Given the description of an element on the screen output the (x, y) to click on. 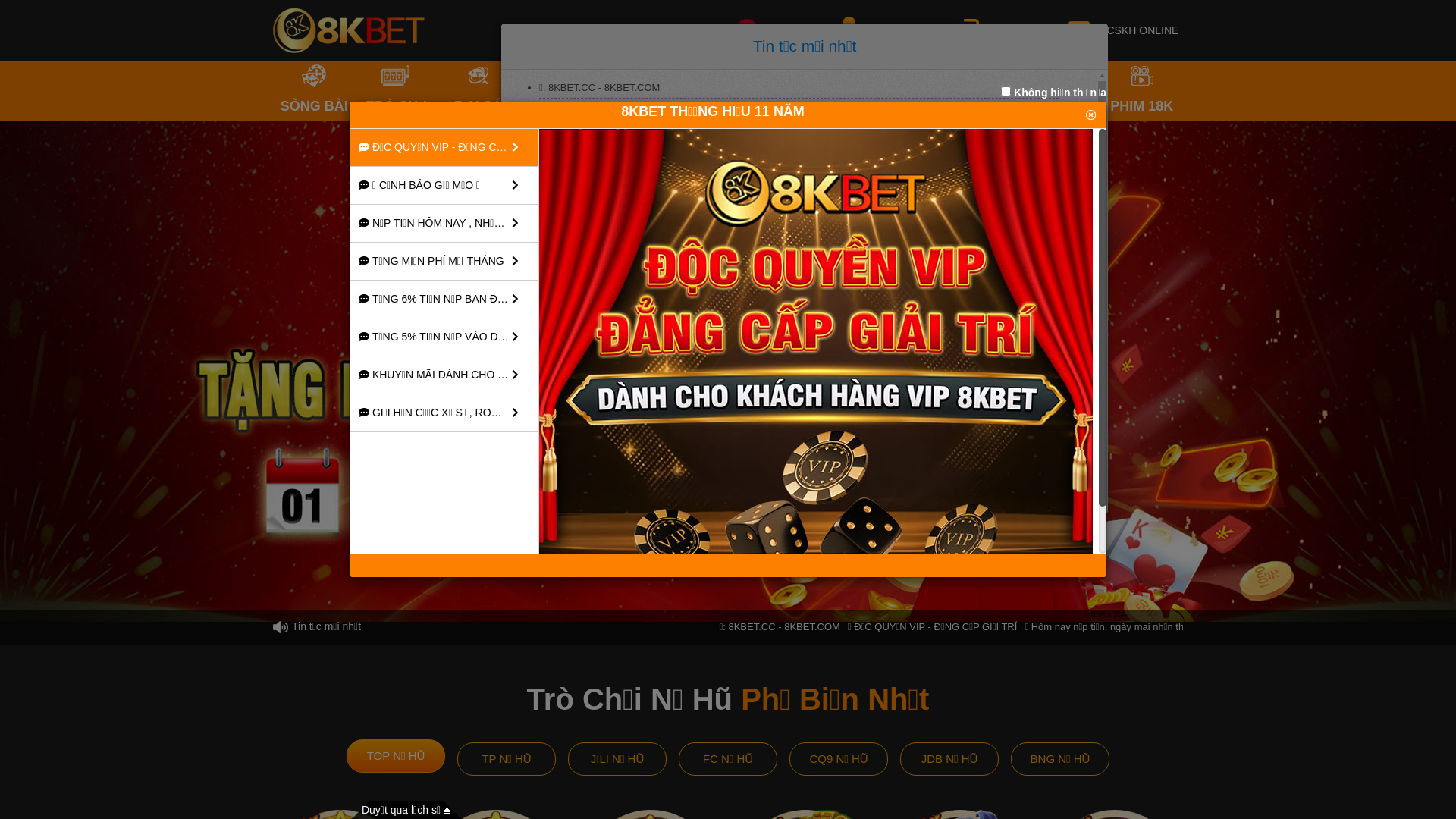
PHIM 18K Element type: text (1141, 90)
